Given the description of an element on the screen output the (x, y) to click on. 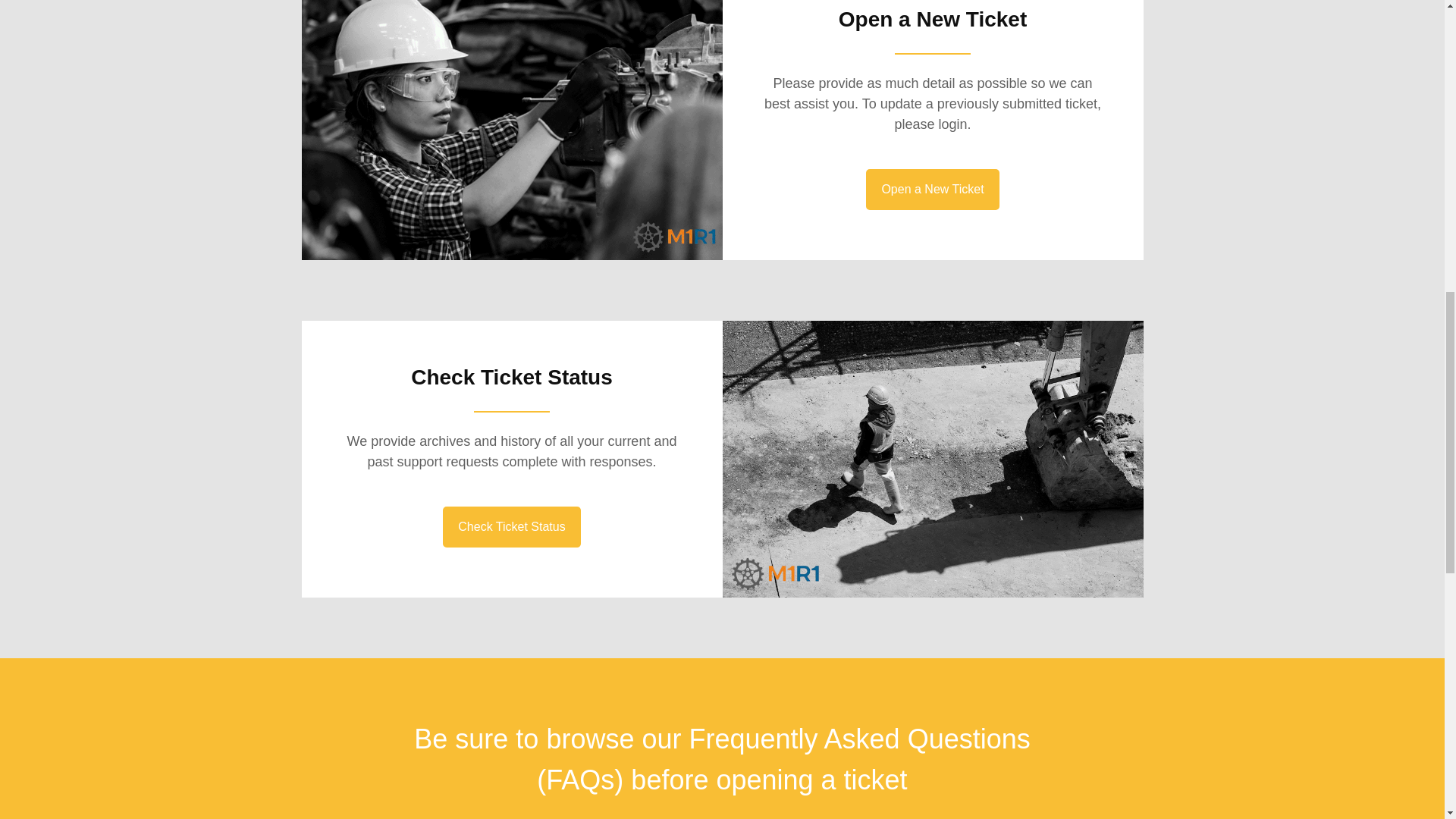
Open a New Ticket (932, 188)
Check Ticket Status (510, 526)
